Given the description of an element on the screen output the (x, y) to click on. 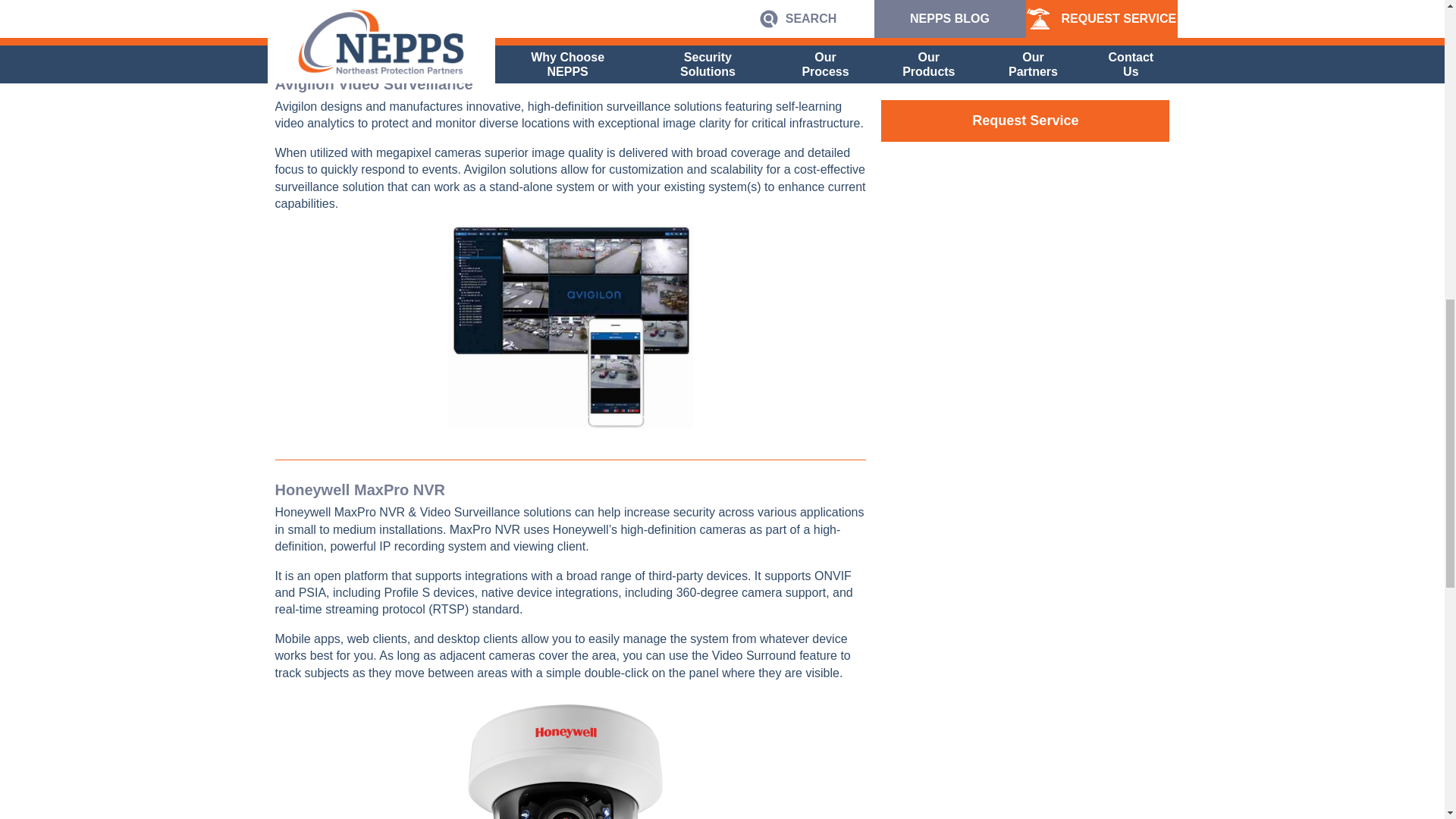
Request Service (1024, 120)
